Given the description of an element on the screen output the (x, y) to click on. 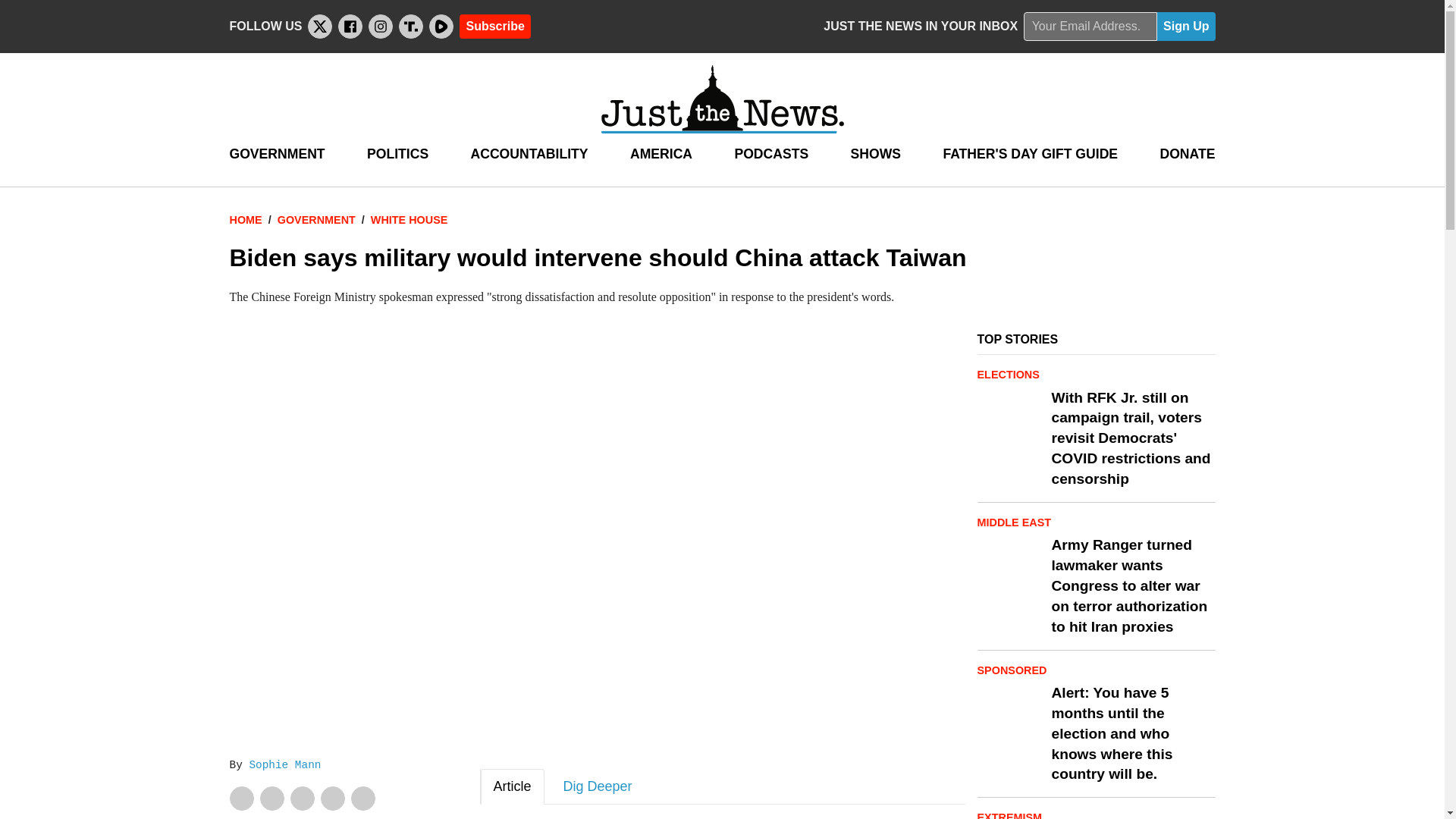
GOVERNMENT (276, 153)
POLITICS (397, 153)
Sign Up (1185, 26)
AMERICA (661, 153)
PODCASTS (770, 153)
SHOWS (875, 153)
Subscribe (494, 26)
DONATE (1186, 153)
FATHER'S DAY GIFT GUIDE (1030, 153)
Sign Up (1185, 26)
